Given the description of an element on the screen output the (x, y) to click on. 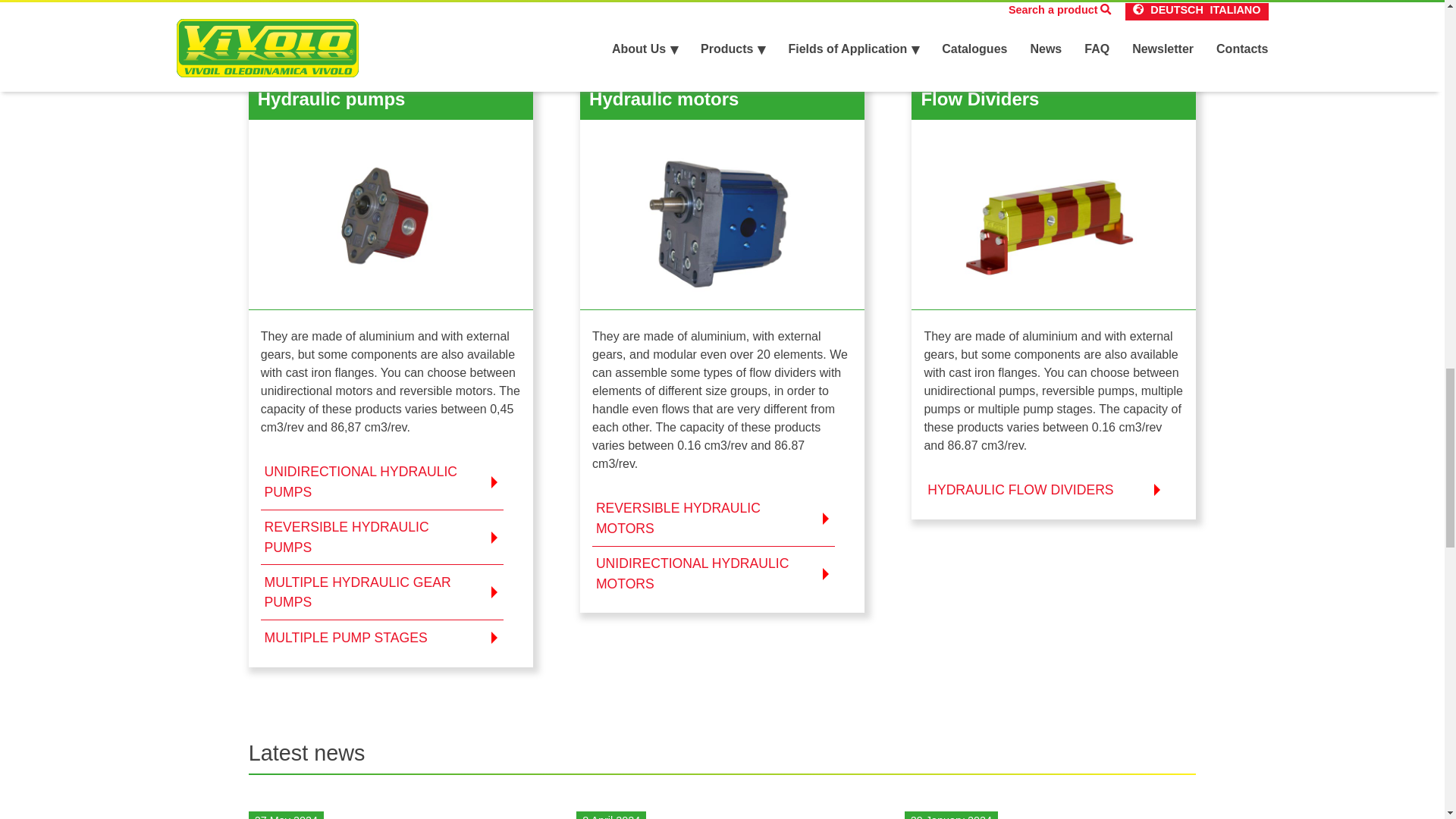
REVERSIBLE HYDRAULIC PUMPS (381, 537)
UNIDIRECTIONAL HYDRAULIC PUMPS (381, 482)
HYDRAULIC FLOW DIVIDERS (1044, 490)
REVERSIBLE HYDRAULIC MOTORS (713, 518)
MULTIPLE HYDRAULIC GEAR PUMPS (381, 592)
MULTIPLE PUMP STAGES (381, 637)
UNIDIRECTIONAL HYDRAULIC MOTORS (713, 574)
